Given the description of an element on the screen output the (x, y) to click on. 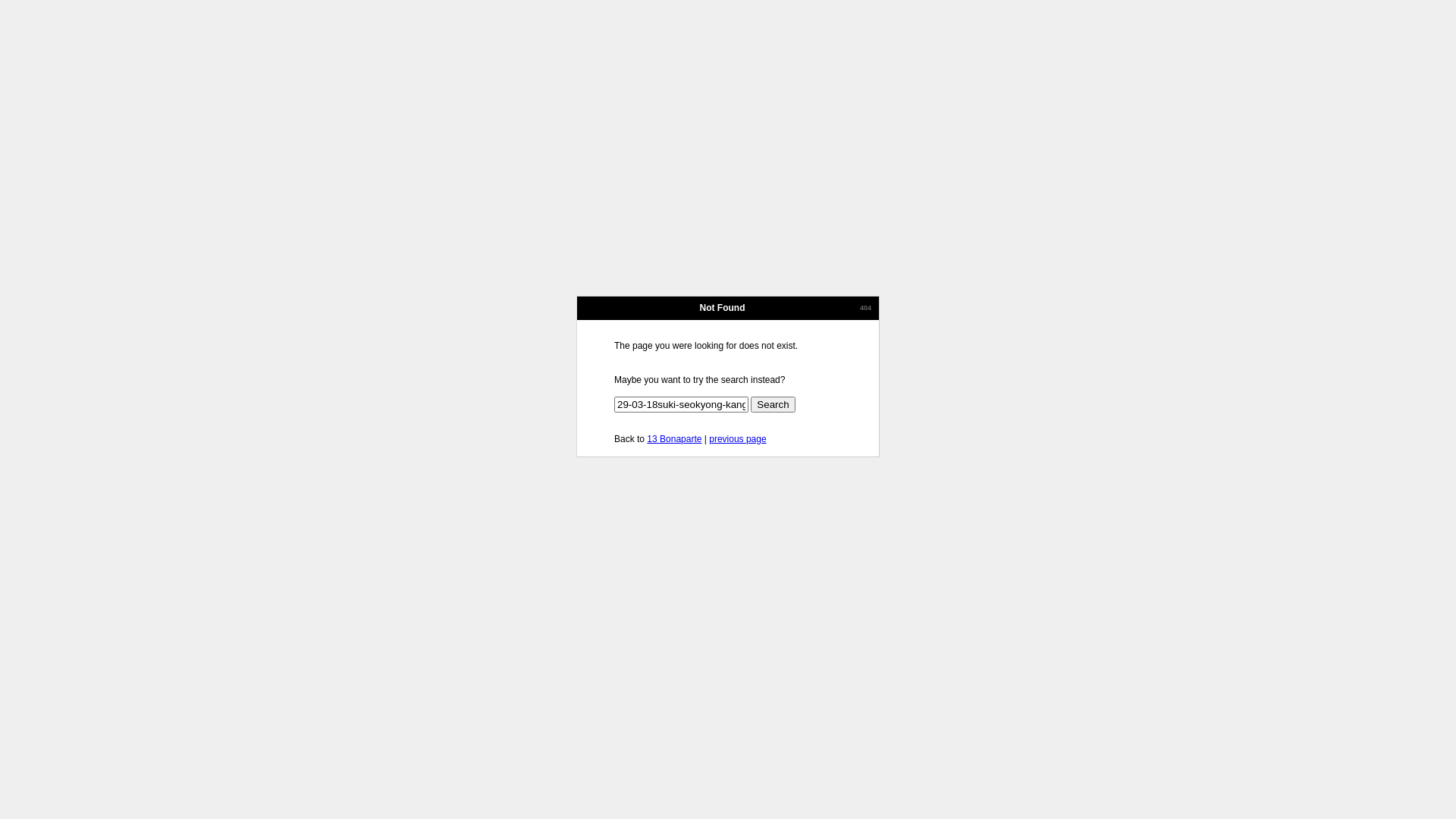
13 Bonaparte Element type: text (673, 438)
Search Element type: text (772, 404)
previous page Element type: text (737, 438)
